Given the description of an element on the screen output the (x, y) to click on. 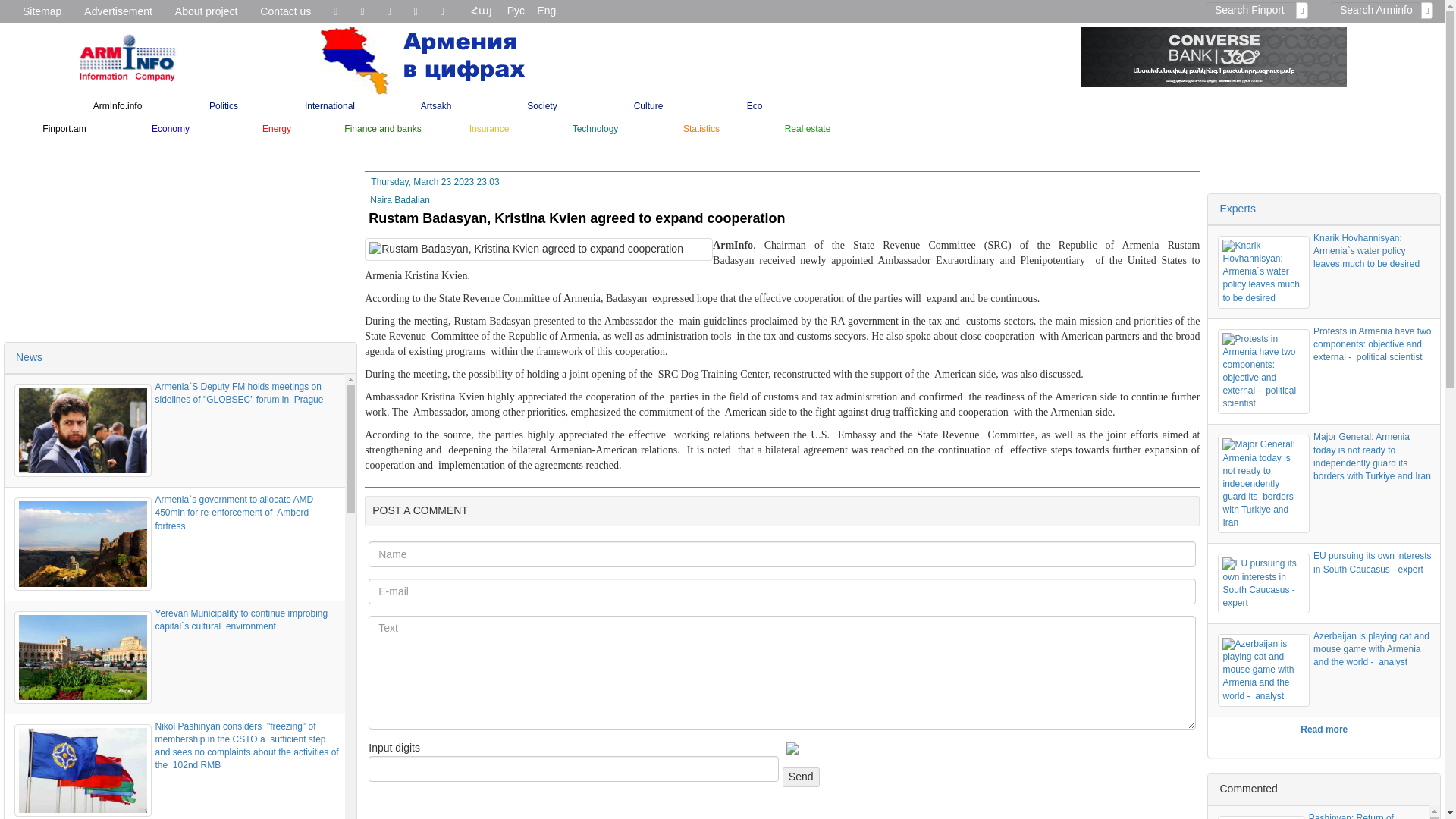
Energy (277, 128)
Real estate (807, 128)
News (29, 357)
ArmInfo.info (117, 106)
Technology (594, 128)
Culture (648, 106)
Economy (170, 128)
Politics (223, 106)
Artsakh (435, 106)
